Given the description of an element on the screen output the (x, y) to click on. 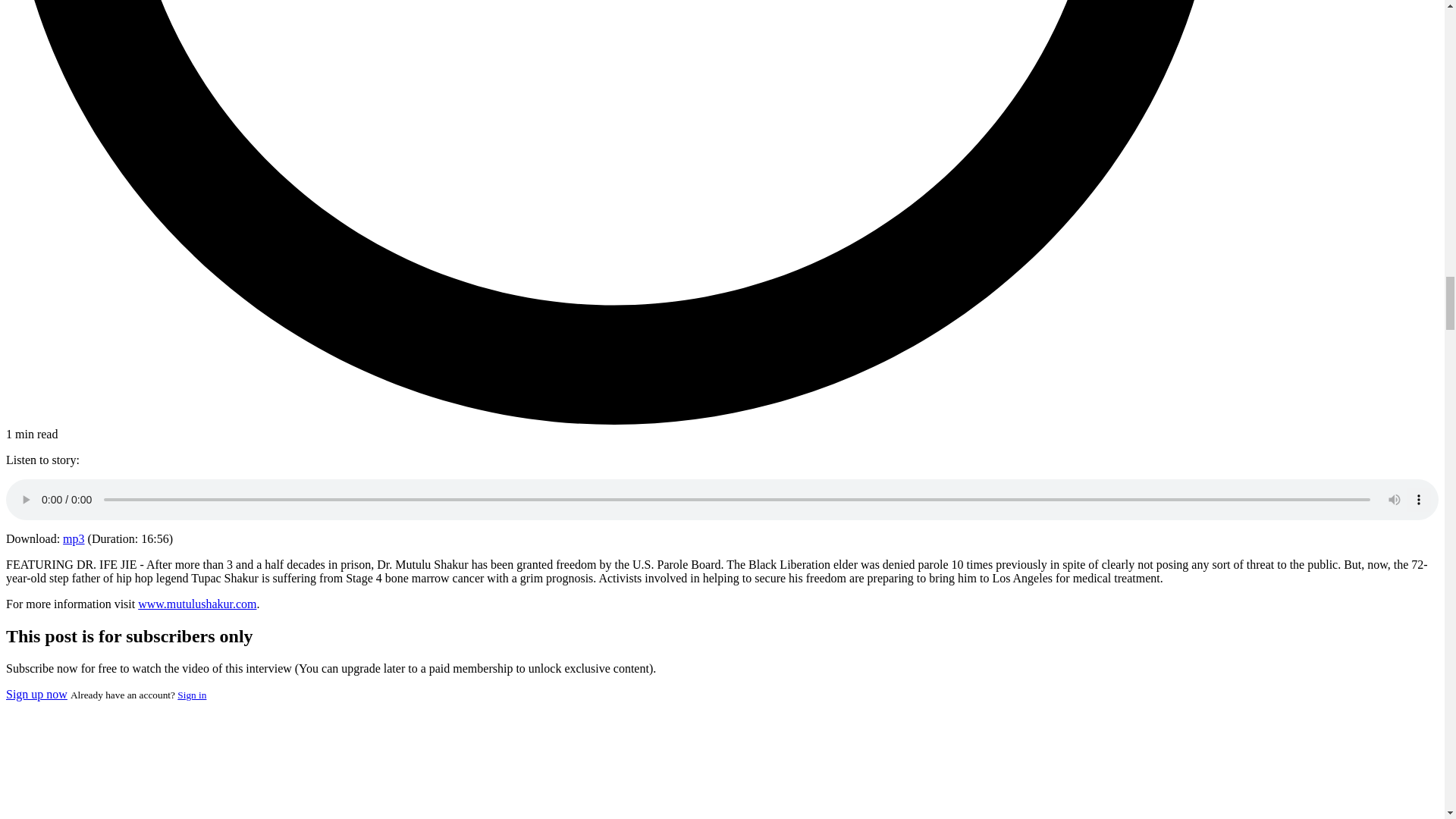
mp3 (73, 538)
mp3 (73, 538)
Sign in (191, 695)
Sign up now (35, 694)
www.mutulushakur.com (197, 603)
